Given the description of an element on the screen output the (x, y) to click on. 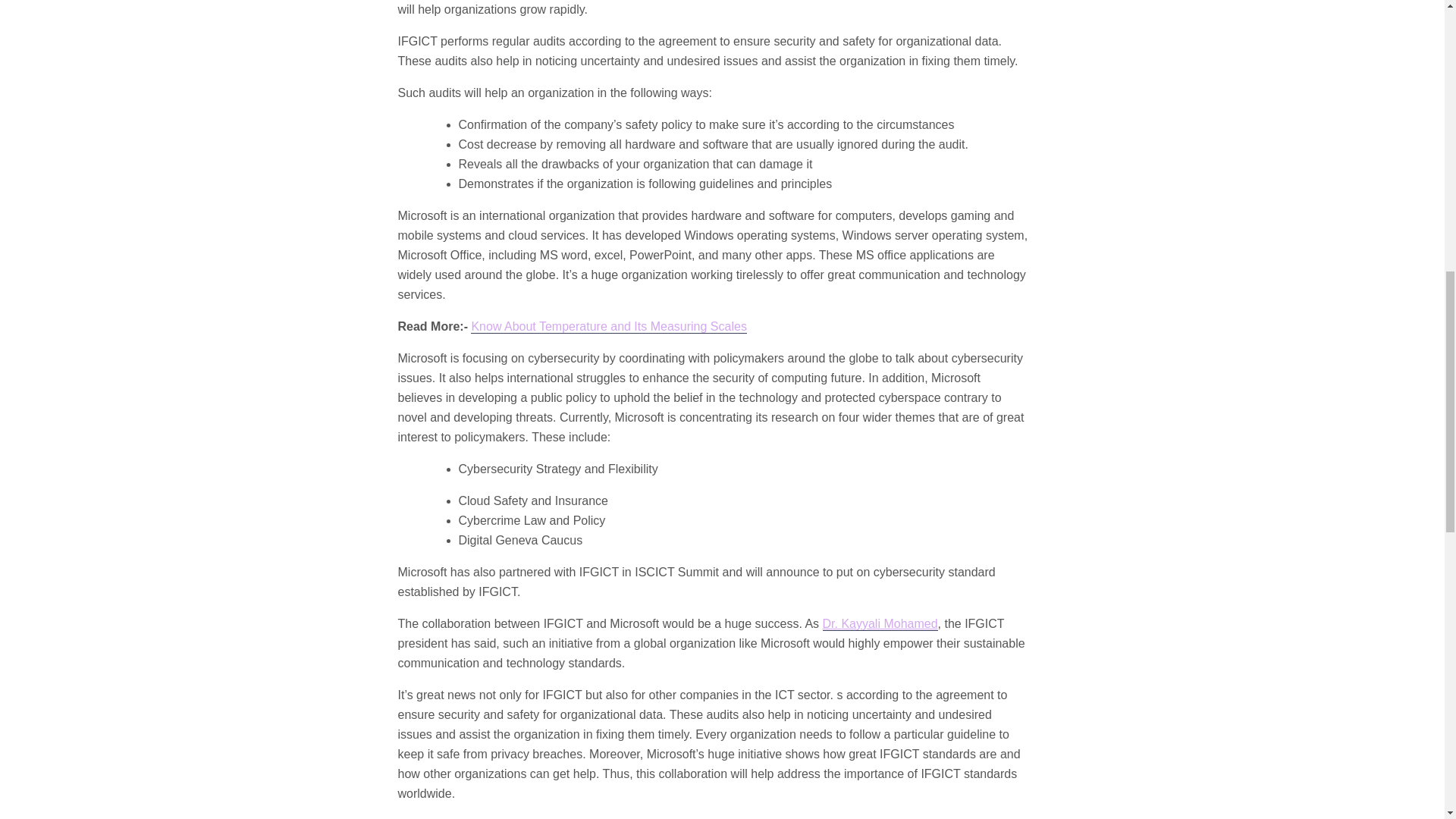
Know About Temperature and Its Measuring Scales (607, 326)
Dr. Kayyali Mohamed (879, 623)
